Given the description of an element on the screen output the (x, y) to click on. 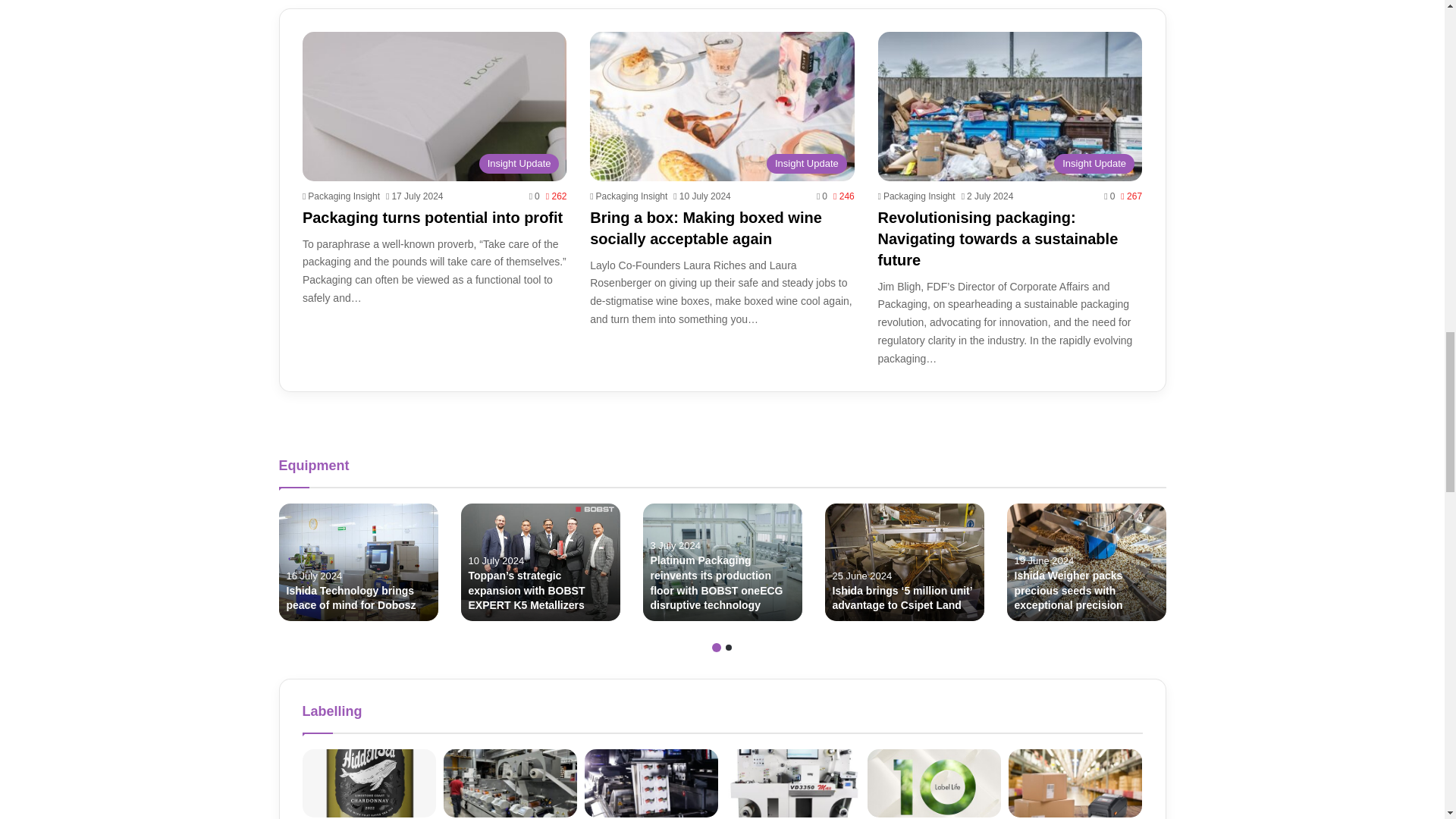
Packaging Insight (916, 195)
Packaging Insight (341, 195)
Packaging Insight (627, 195)
